Given the description of an element on the screen output the (x, y) to click on. 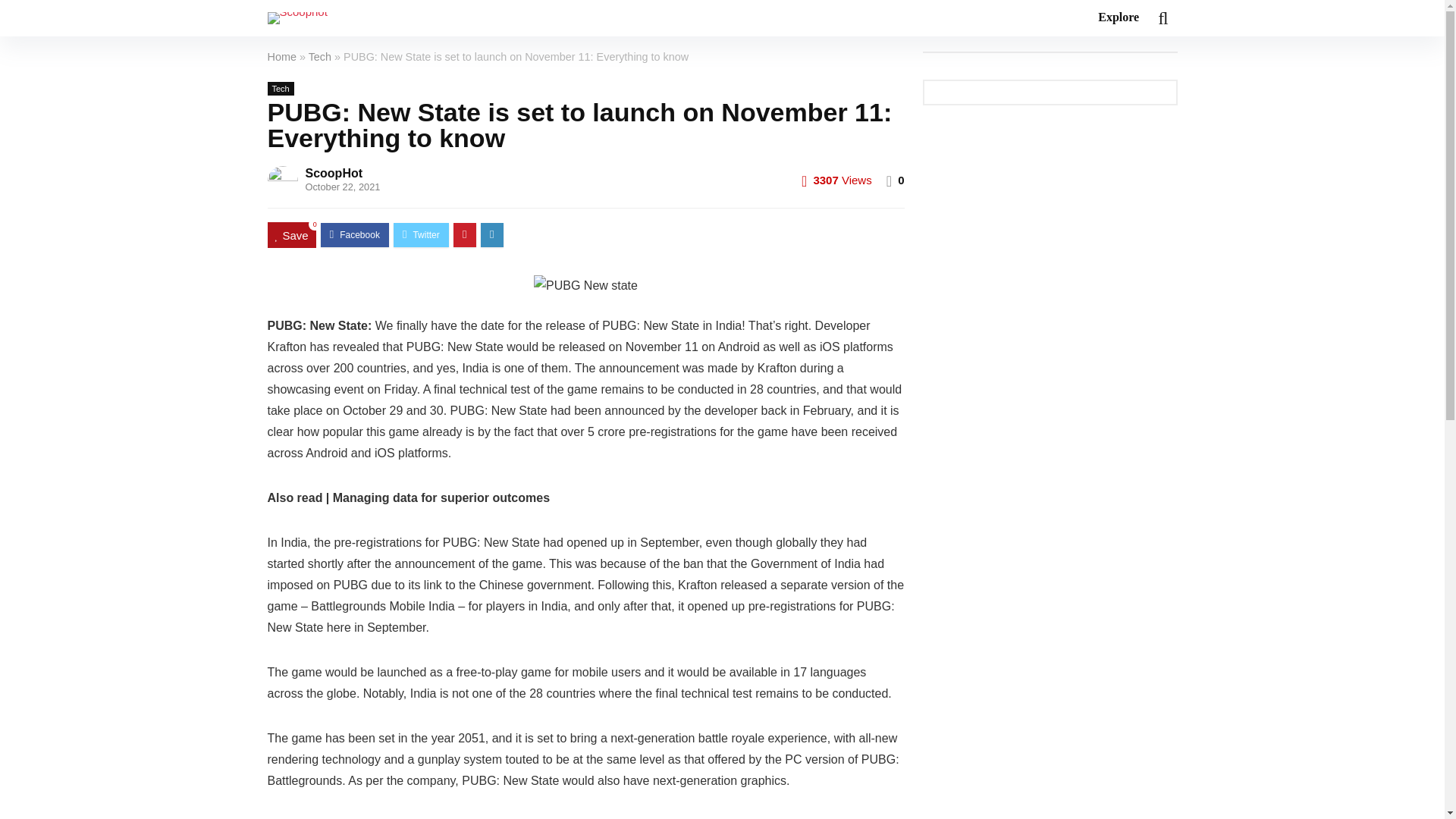
Explore (1117, 18)
View all posts in Tech (280, 88)
ScoopHot (333, 173)
Tech (280, 88)
Home (280, 56)
Tech (319, 56)
